Given the description of an element on the screen output the (x, y) to click on. 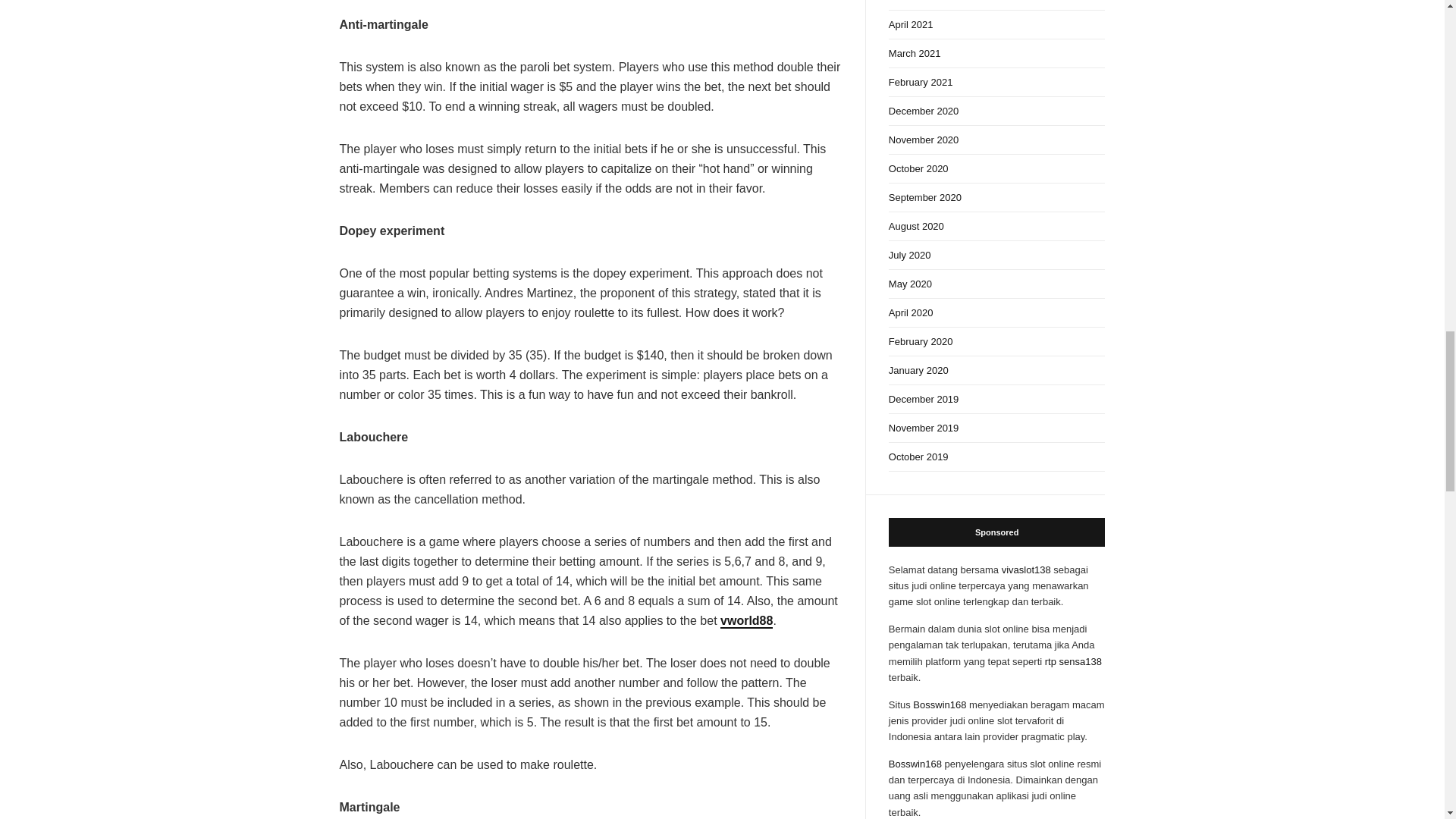
vworld88 (746, 621)
